Given the description of an element on the screen output the (x, y) to click on. 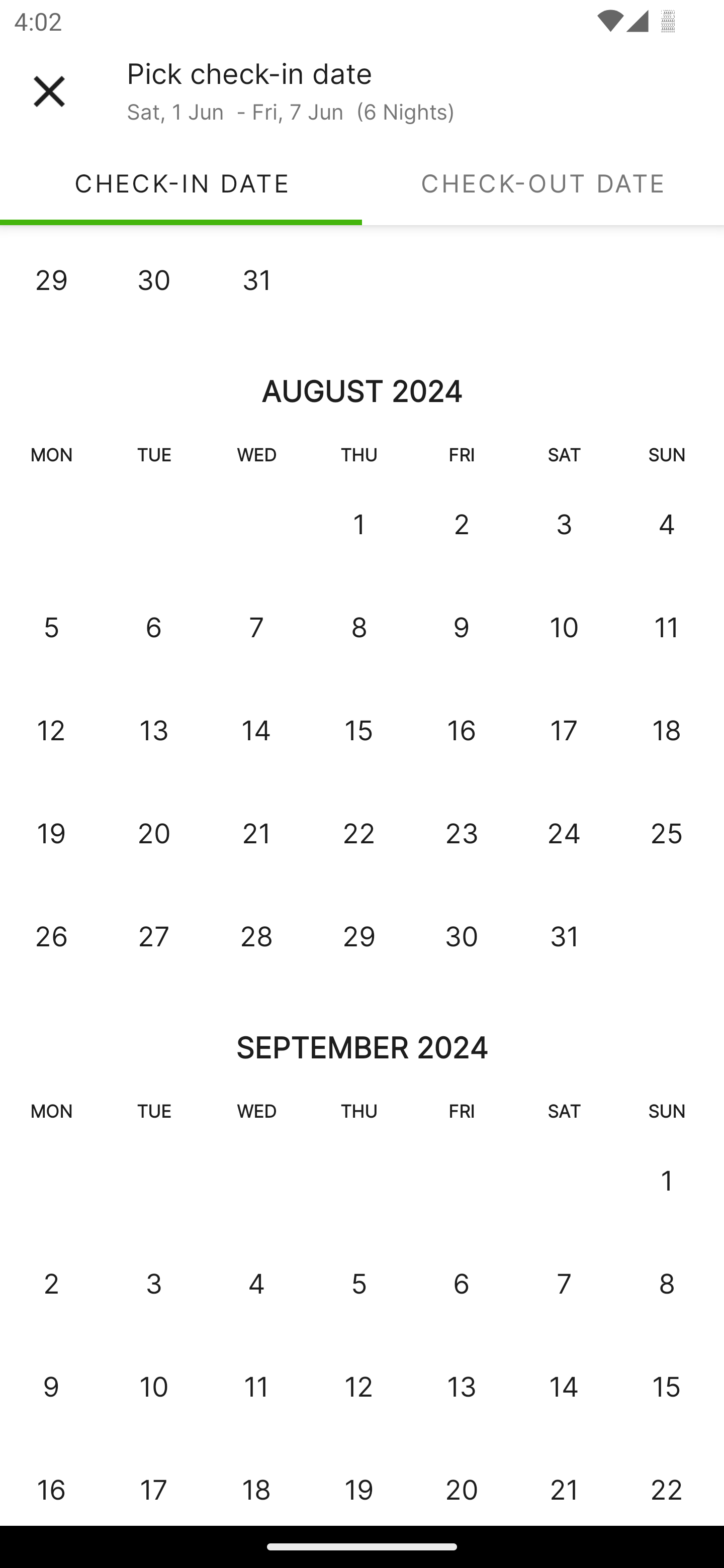
Check-out Date CHECK-OUT DATE (543, 183)
